Given the description of an element on the screen output the (x, y) to click on. 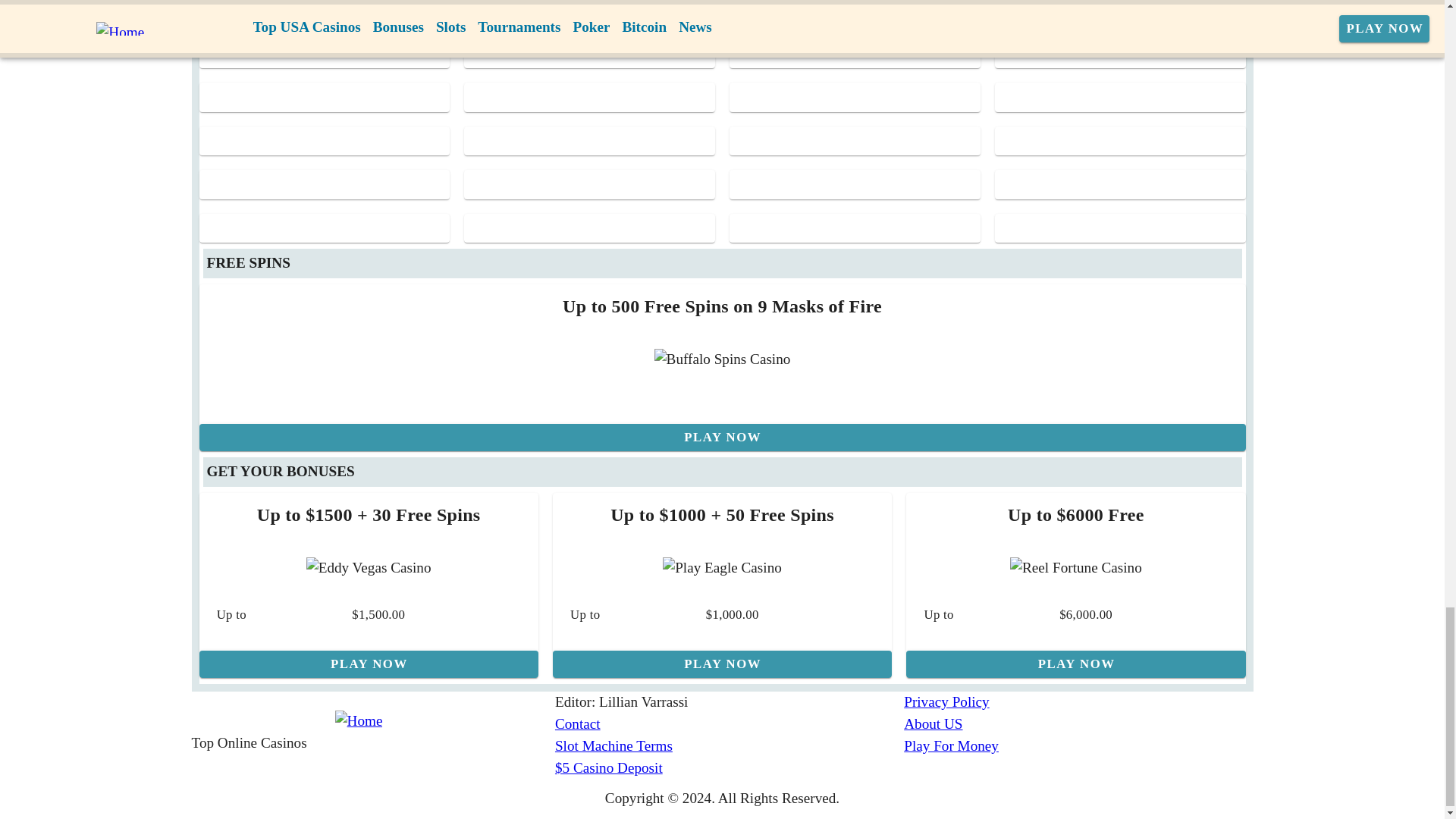
PLAY NOW (1074, 664)
Privacy Policy (1078, 702)
PLAY NOW (721, 437)
PLAY NOW (367, 664)
Play For Money (1078, 746)
Slot Machine Terms (729, 746)
PLAY NOW (722, 664)
About US (1078, 724)
Contact (729, 724)
